Given the description of an element on the screen output the (x, y) to click on. 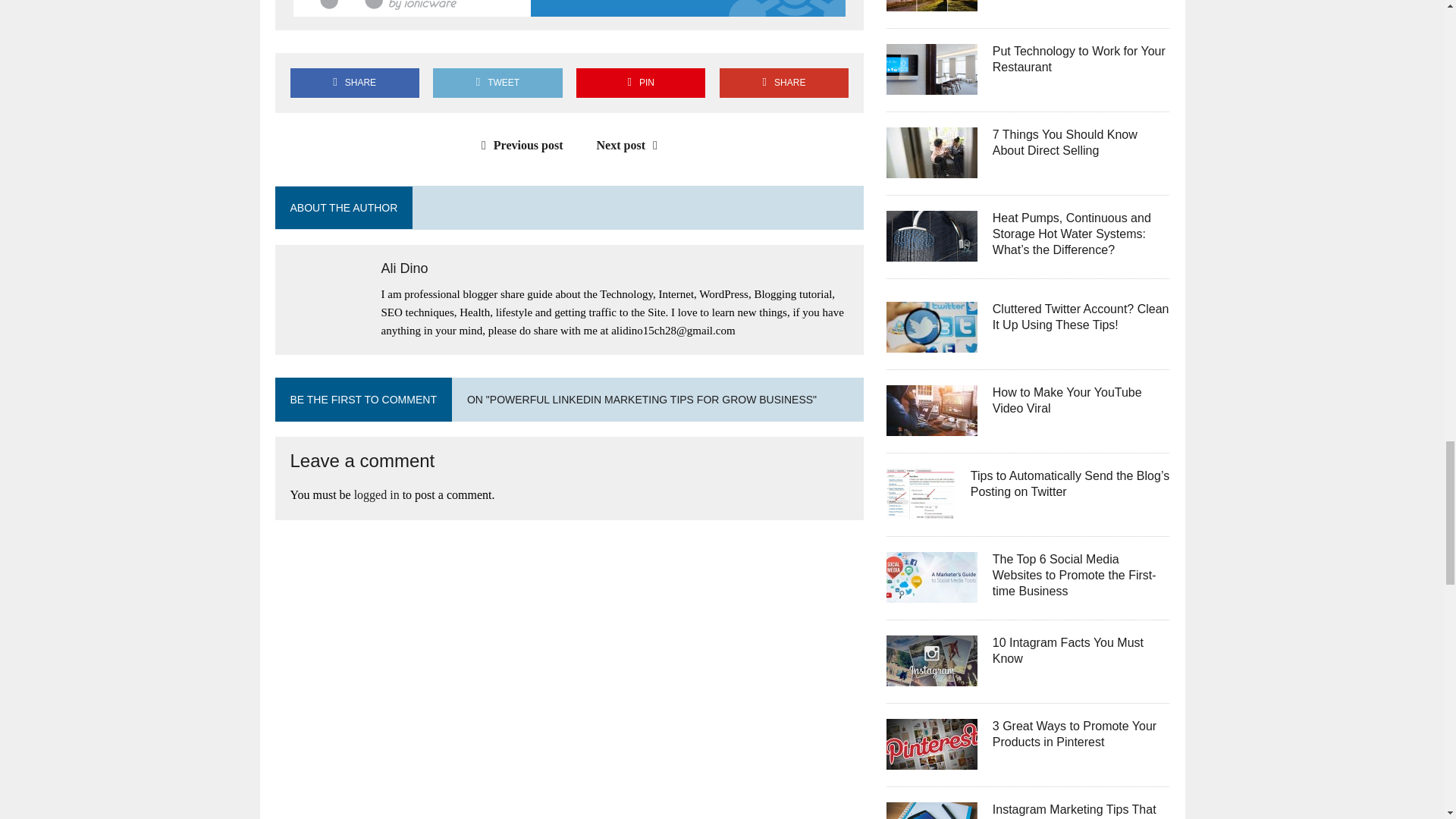
Share on Facebook (354, 82)
Pin This Post (640, 82)
Tweet This Post (497, 82)
